Given the description of an element on the screen output the (x, y) to click on. 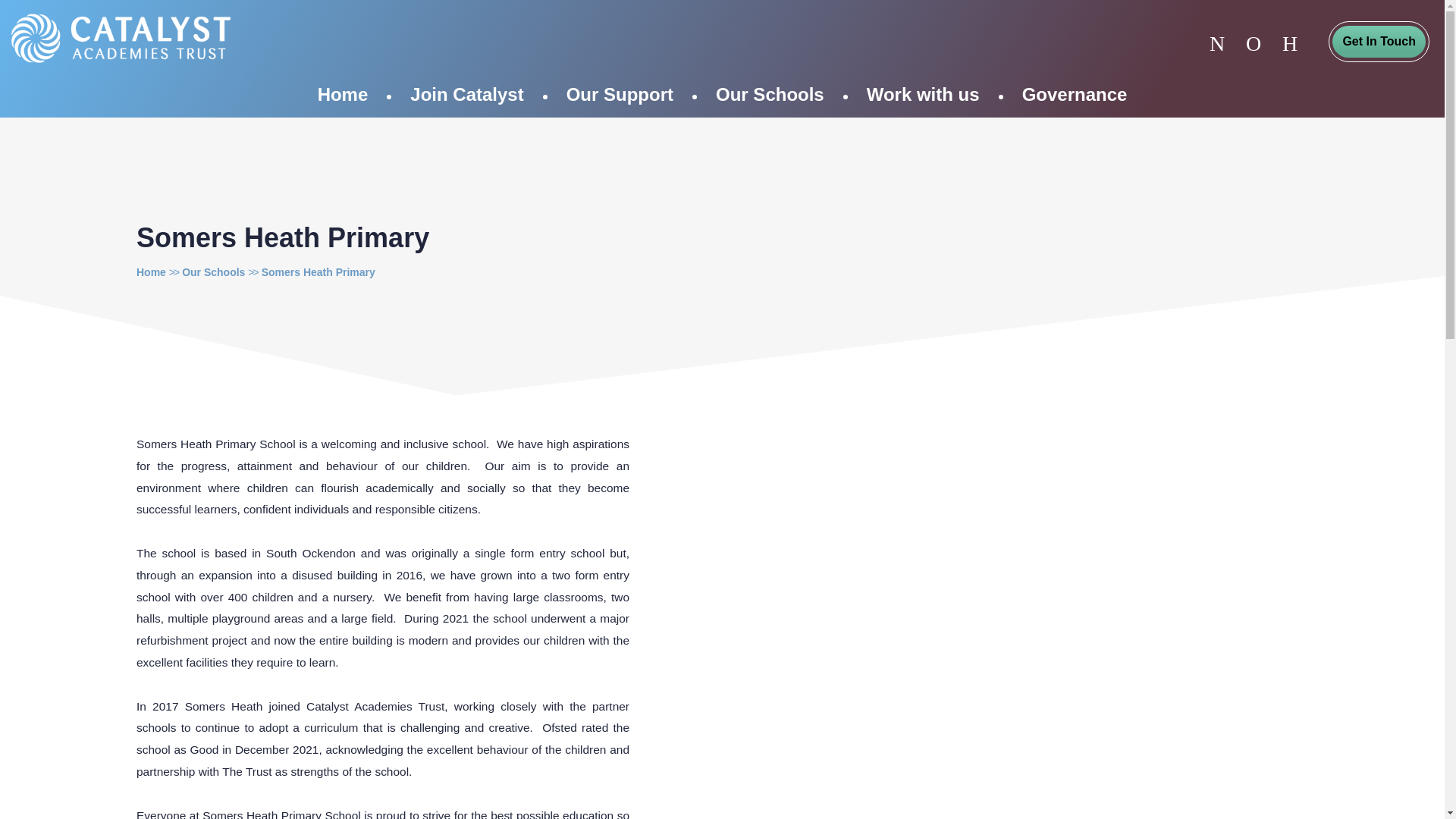
Governance (1075, 94)
Work with us (922, 94)
Our Schools (769, 94)
Get In Touch (1378, 41)
Join Catalyst (466, 94)
Home (150, 272)
Our Support (620, 94)
Twitter (1216, 43)
Google Translate (1253, 43)
Twitter Link (1216, 43)
